Given the description of an element on the screen output the (x, y) to click on. 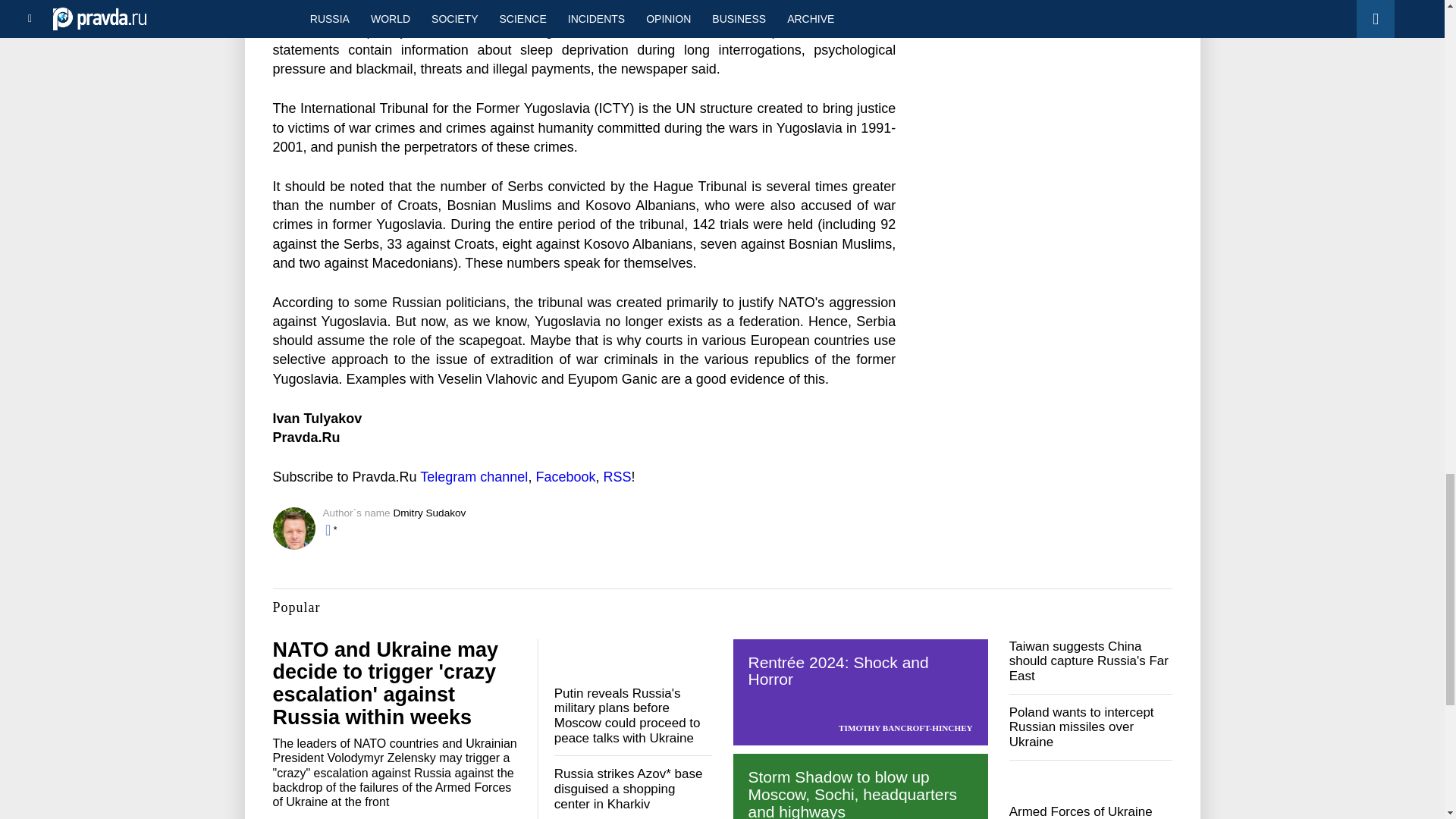
Dmitry Sudakov (429, 512)
Telegram channel (473, 476)
Facebook (565, 476)
RSS (616, 476)
